Given the description of an element on the screen output the (x, y) to click on. 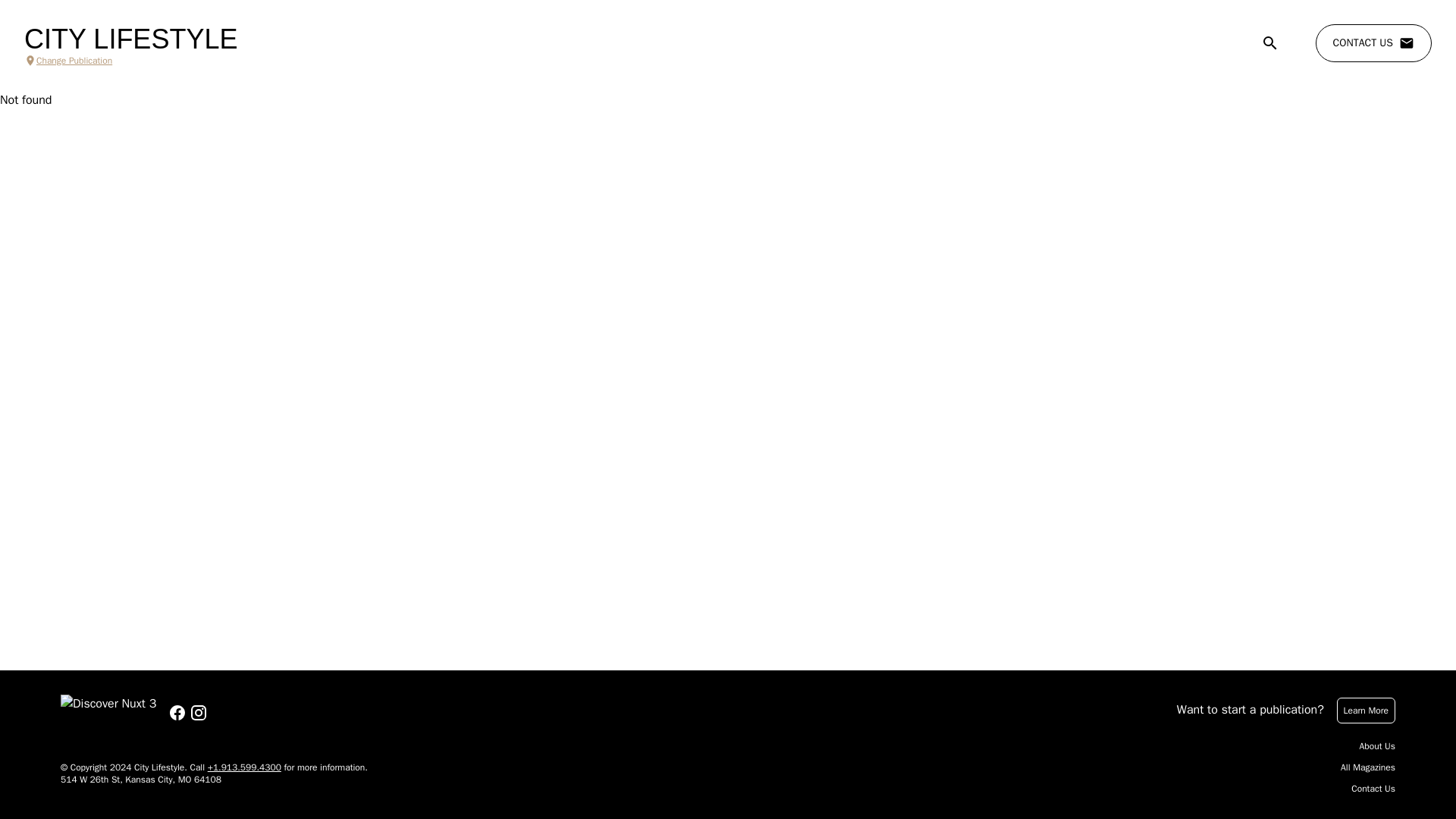
Learn More (1365, 710)
CITY LIFESTYLE (130, 39)
Change Publication (130, 60)
About Us (1376, 746)
CONTACT US (1373, 43)
Contact Us (1372, 788)
All Magazines (1367, 767)
